Given the description of an element on the screen output the (x, y) to click on. 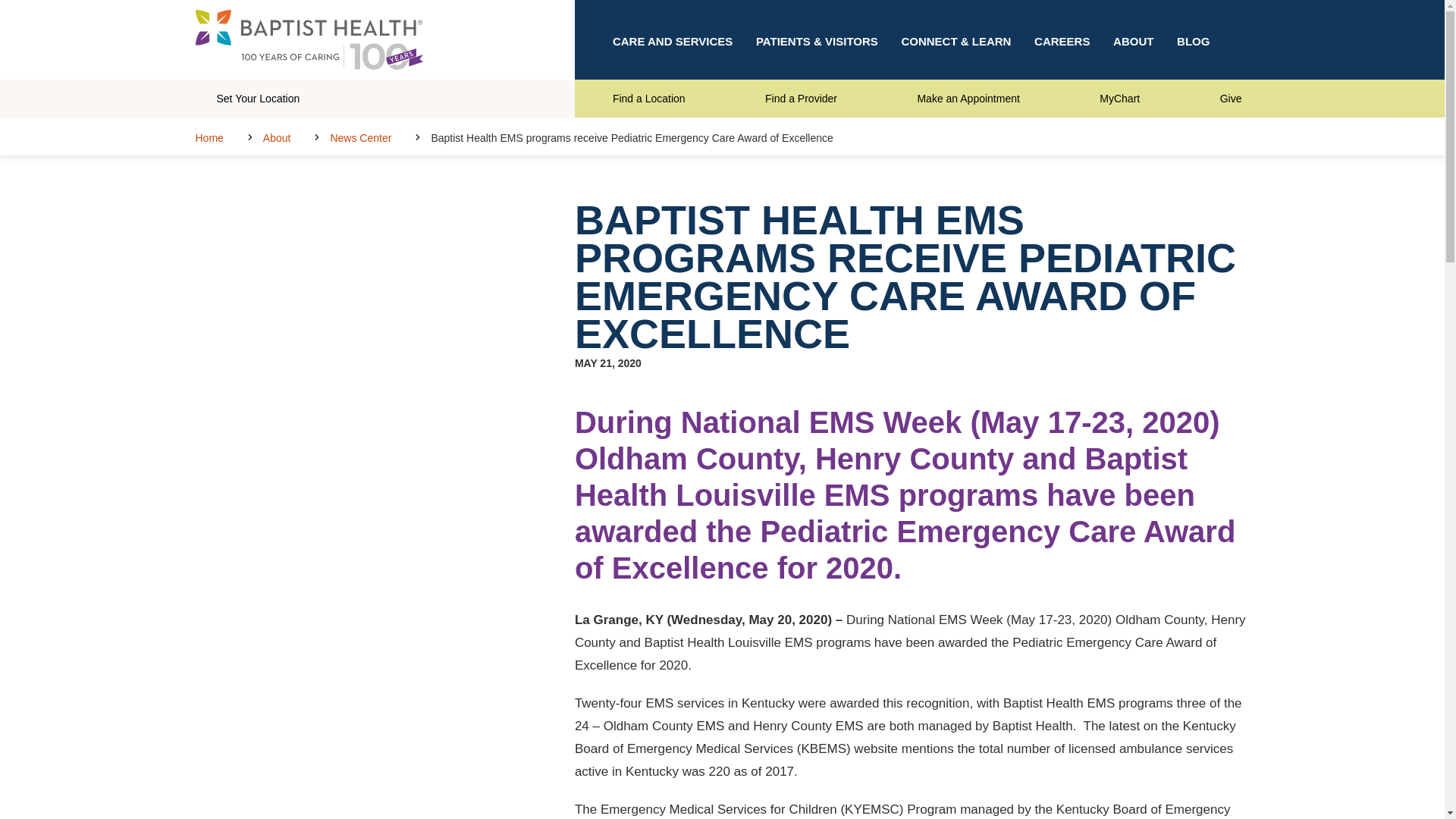
CARE AND SERVICES (672, 39)
